Given the description of an element on the screen output the (x, y) to click on. 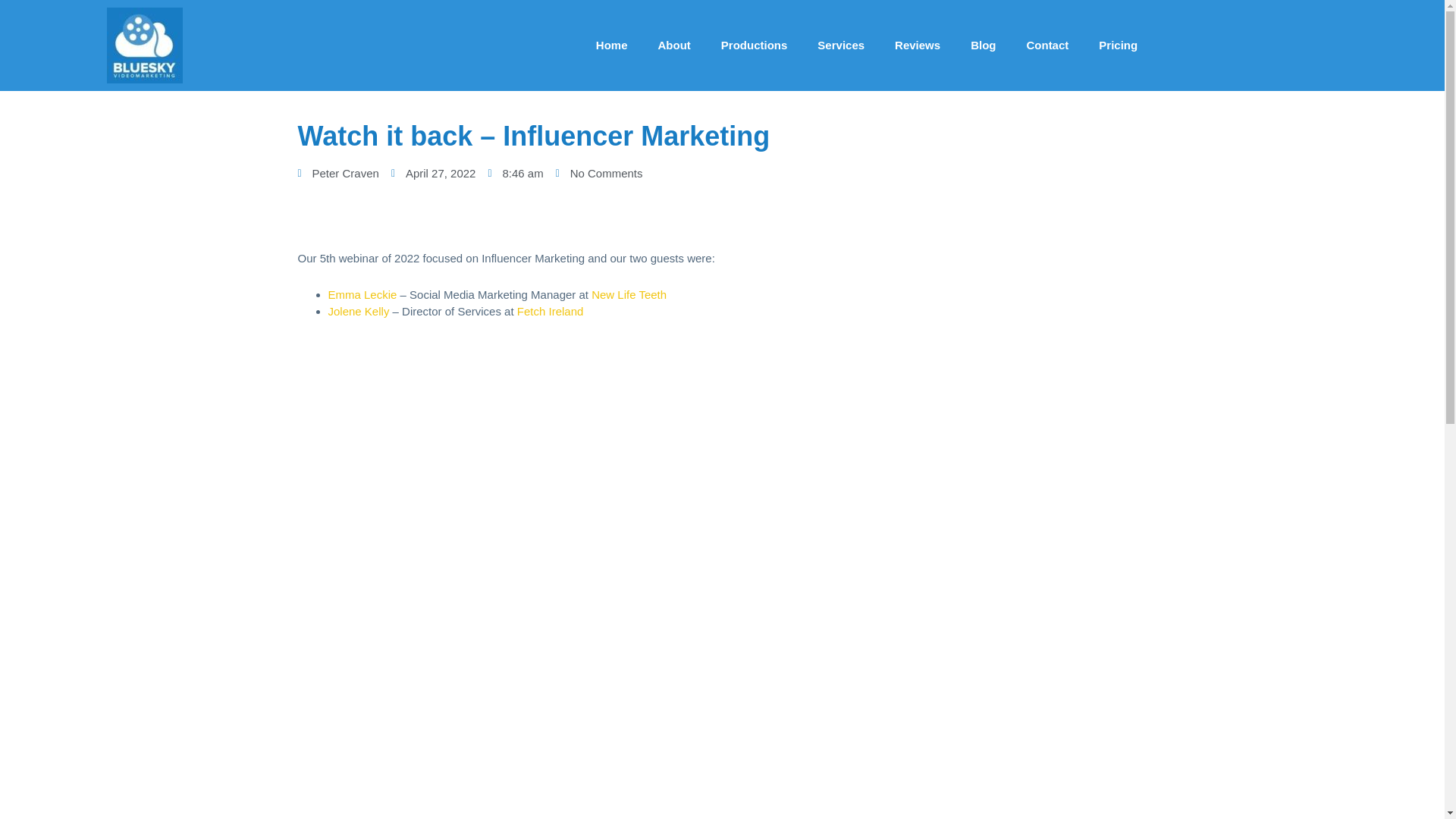
Productions (754, 45)
Home (611, 45)
About (674, 45)
Pricing (1118, 45)
Contact (1046, 45)
Blog (982, 45)
Reviews (917, 45)
Services (840, 45)
